Given the description of an element on the screen output the (x, y) to click on. 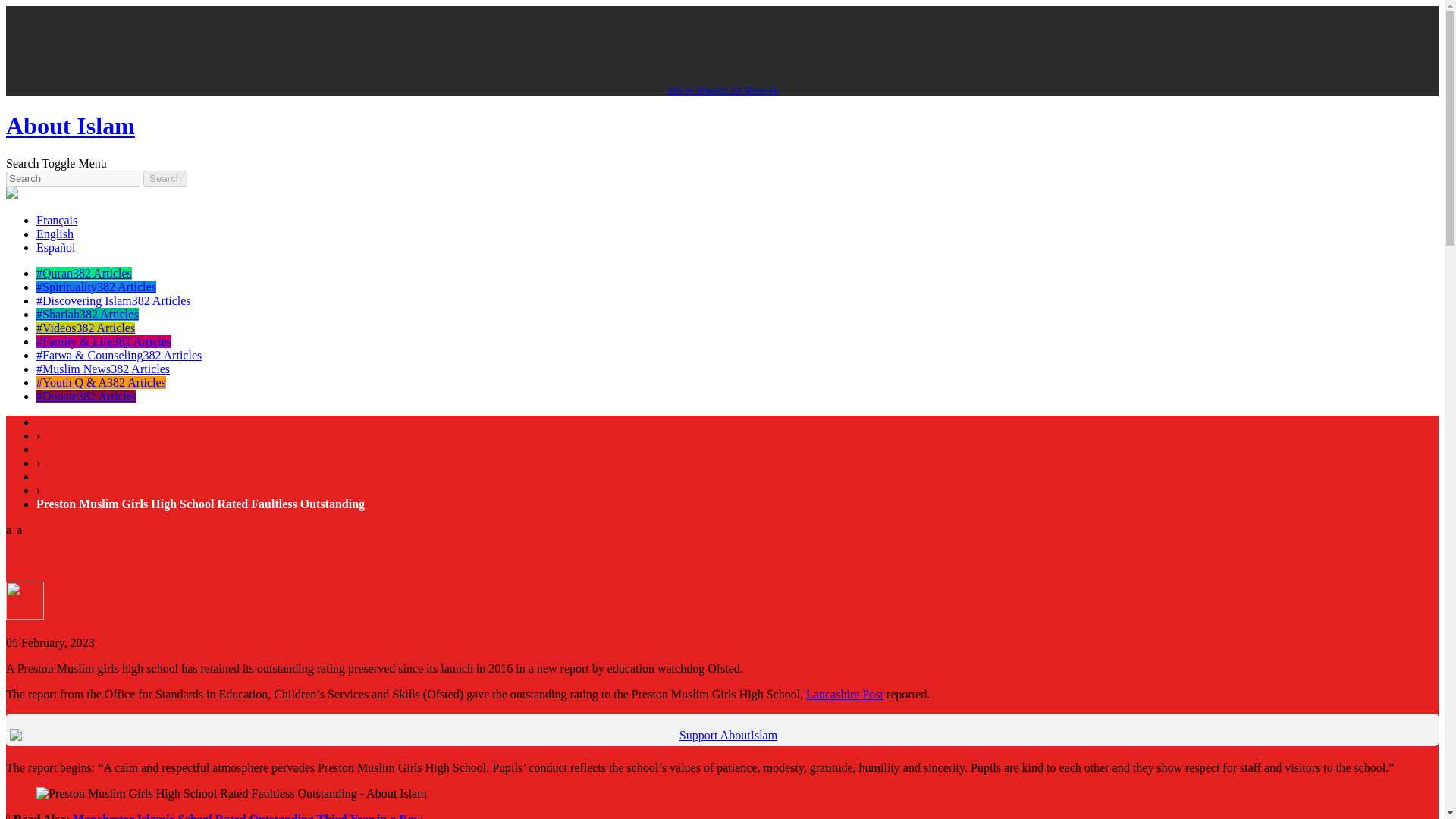
Lancashire Post (844, 694)
Search (22, 163)
Ads by Muslim Ad Network (721, 89)
Home (50, 421)
Home (50, 421)
Advertise and Market to Muslims (721, 89)
Search (164, 178)
Search (164, 178)
Preston Muslim Girls High School Rated Faultless Outstanding (200, 503)
About Islam (70, 125)
Europe (53, 476)
English (55, 233)
About Islam (70, 125)
